Given the description of an element on the screen output the (x, y) to click on. 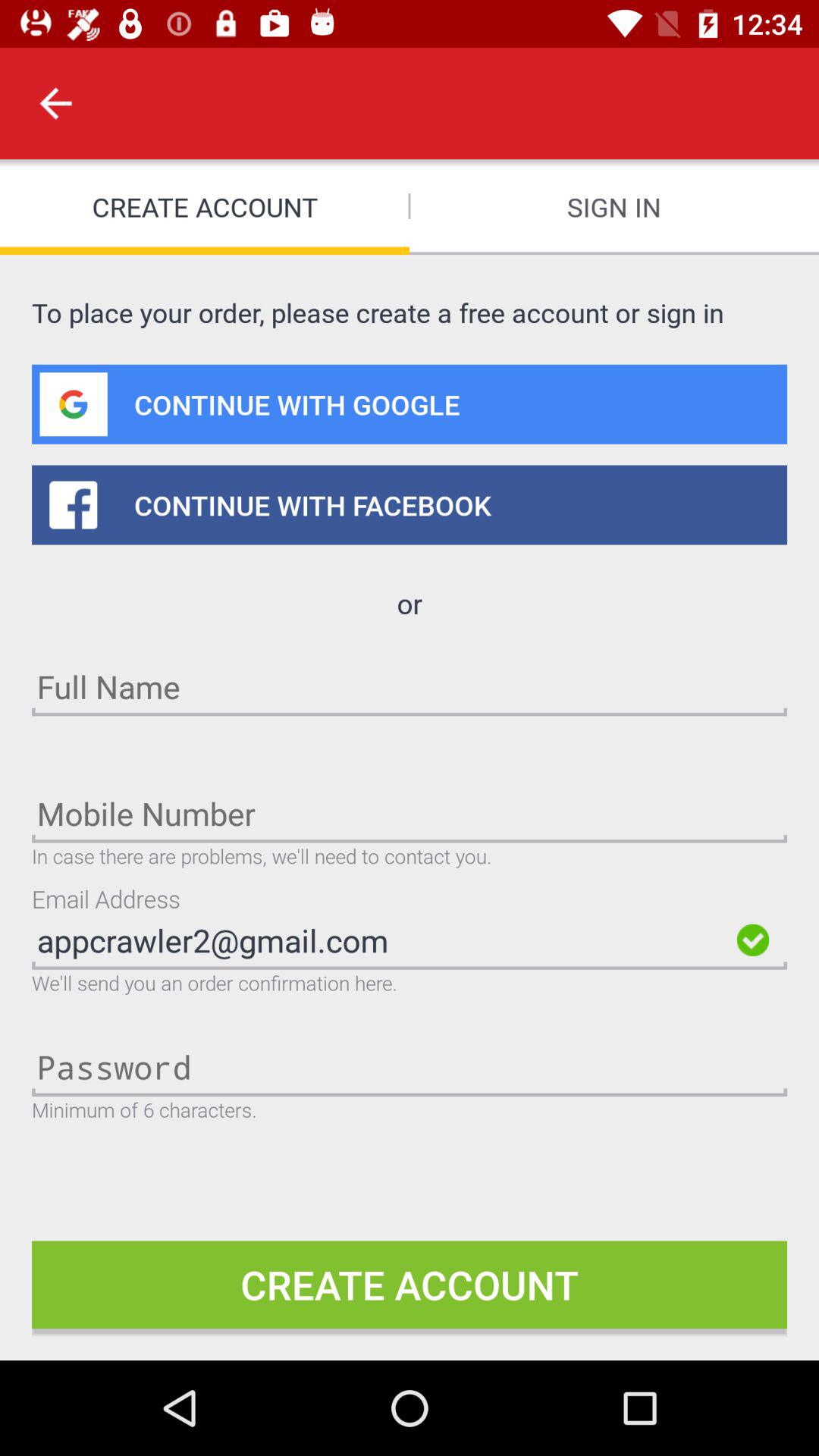
click the icon above we ll send item (380, 939)
